Given the description of an element on the screen output the (x, y) to click on. 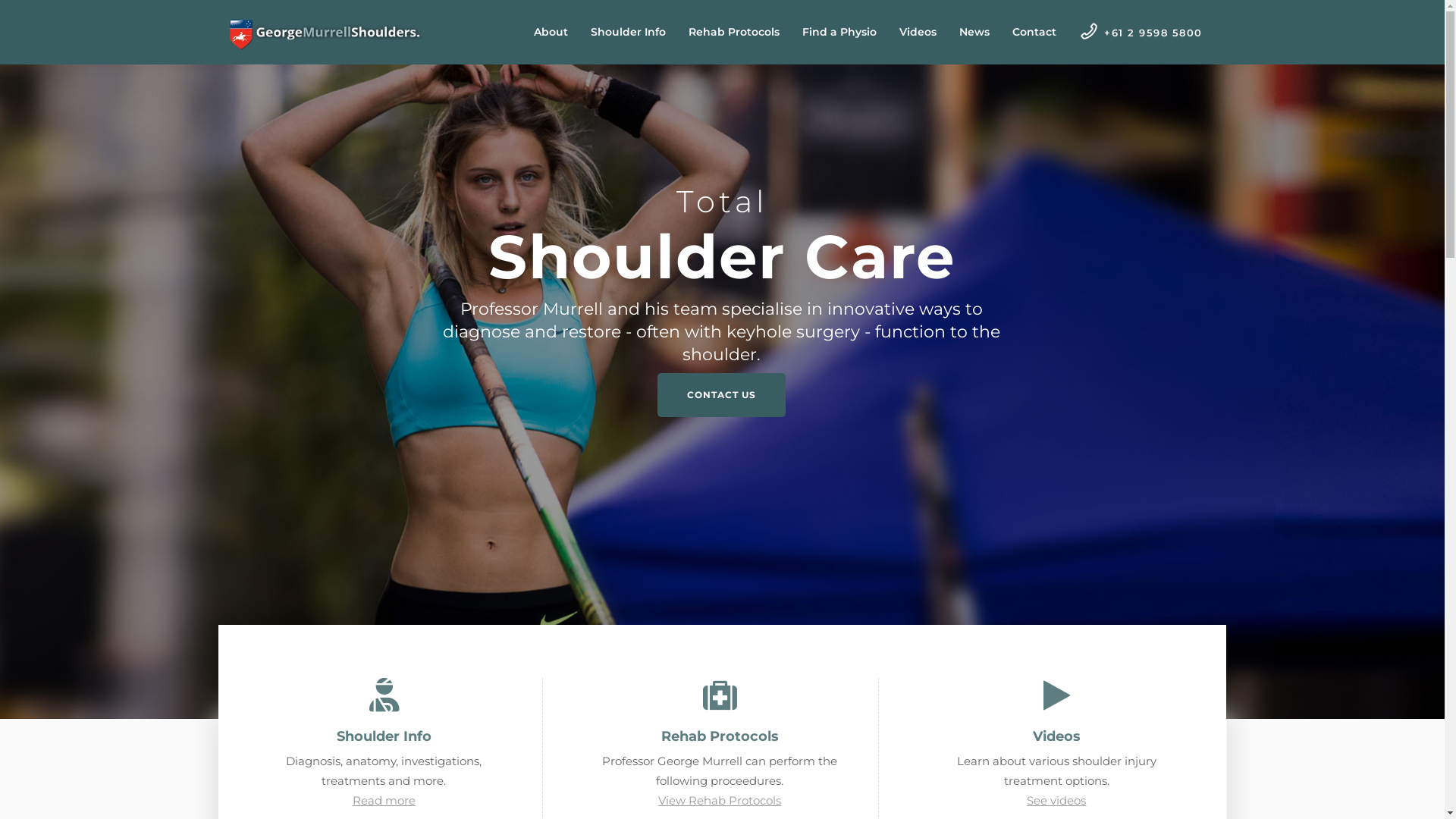
Shoulder Info Element type: text (628, 32)
Find a Physio Element type: text (839, 32)
See videos Element type: text (1055, 800)
Read more Element type: text (383, 800)
About Element type: text (550, 32)
Contact Element type: text (1034, 32)
View Rehab Protocols Element type: text (719, 800)
Rehab Protocols Element type: text (733, 32)
Videos Element type: text (917, 32)
News Element type: text (974, 32)
CONTACT US Element type: text (721, 395)
